Given the description of an element on the screen output the (x, y) to click on. 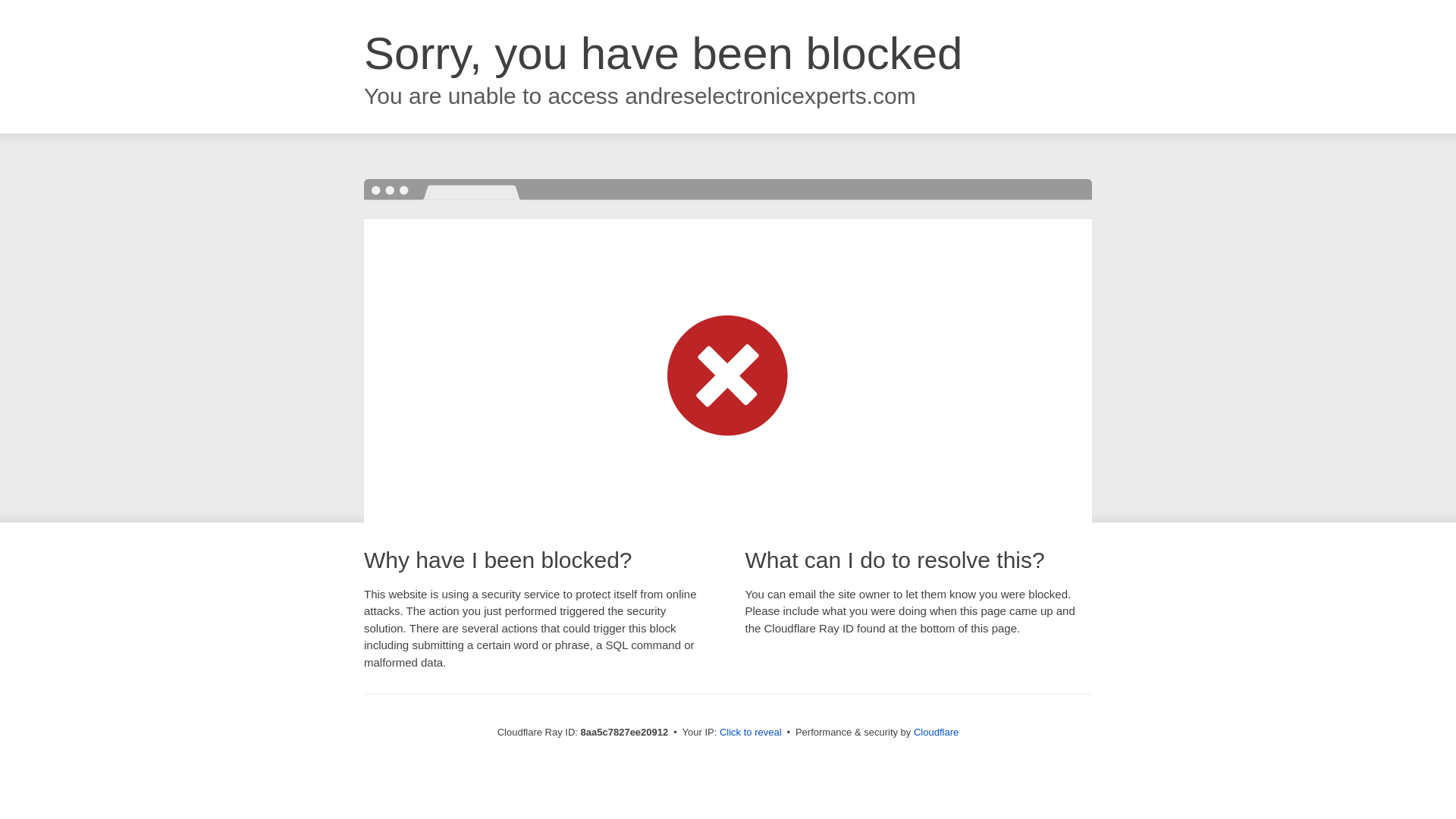
Cloudflare (936, 731)
Click to reveal (750, 732)
